Given the description of an element on the screen output the (x, y) to click on. 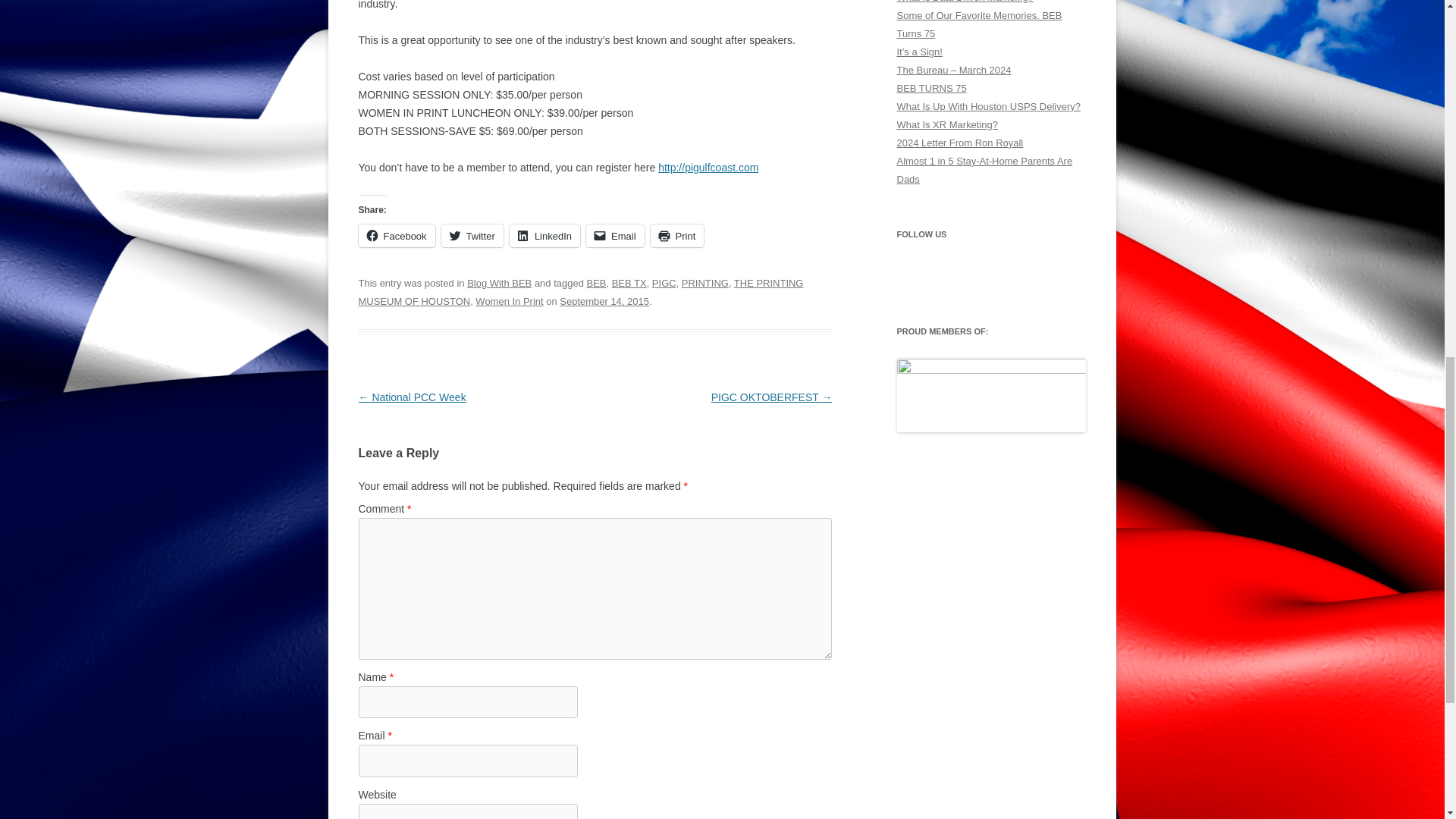
Twitter (472, 235)
PIGC (664, 283)
LinkedIn (544, 235)
Facebook (395, 235)
Click to share on Facebook (395, 235)
Click to share on LinkedIn (544, 235)
Click to email a link to a friend (615, 235)
BEB (595, 283)
Click to share on Twitter (472, 235)
Blog With BEB (499, 283)
4:38 pm (604, 301)
Email (615, 235)
Click to print (677, 235)
BEB TX (628, 283)
Print (677, 235)
